Given the description of an element on the screen output the (x, y) to click on. 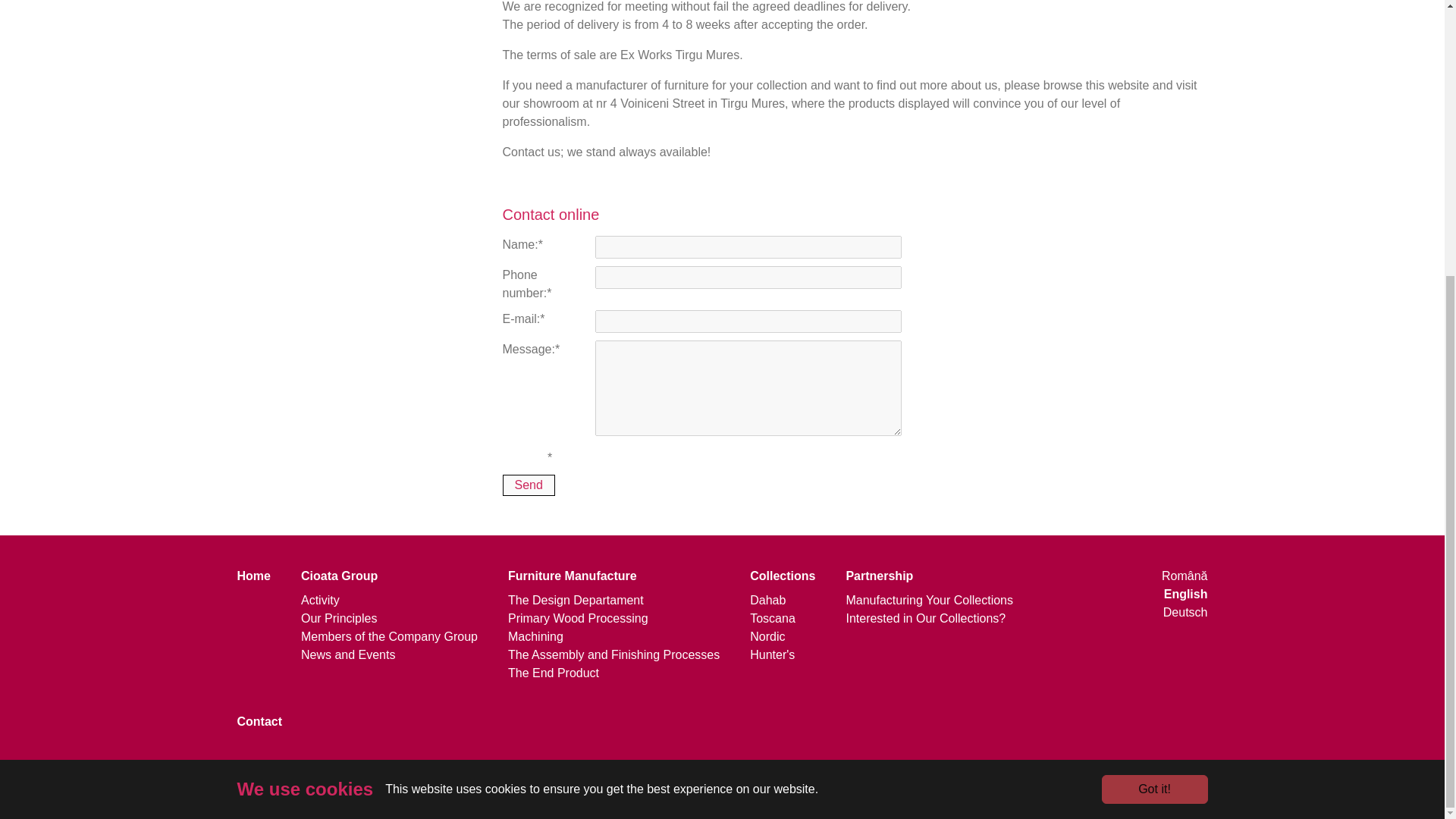
Send (528, 485)
Send (528, 485)
Got it! (1153, 380)
